Given the description of an element on the screen output the (x, y) to click on. 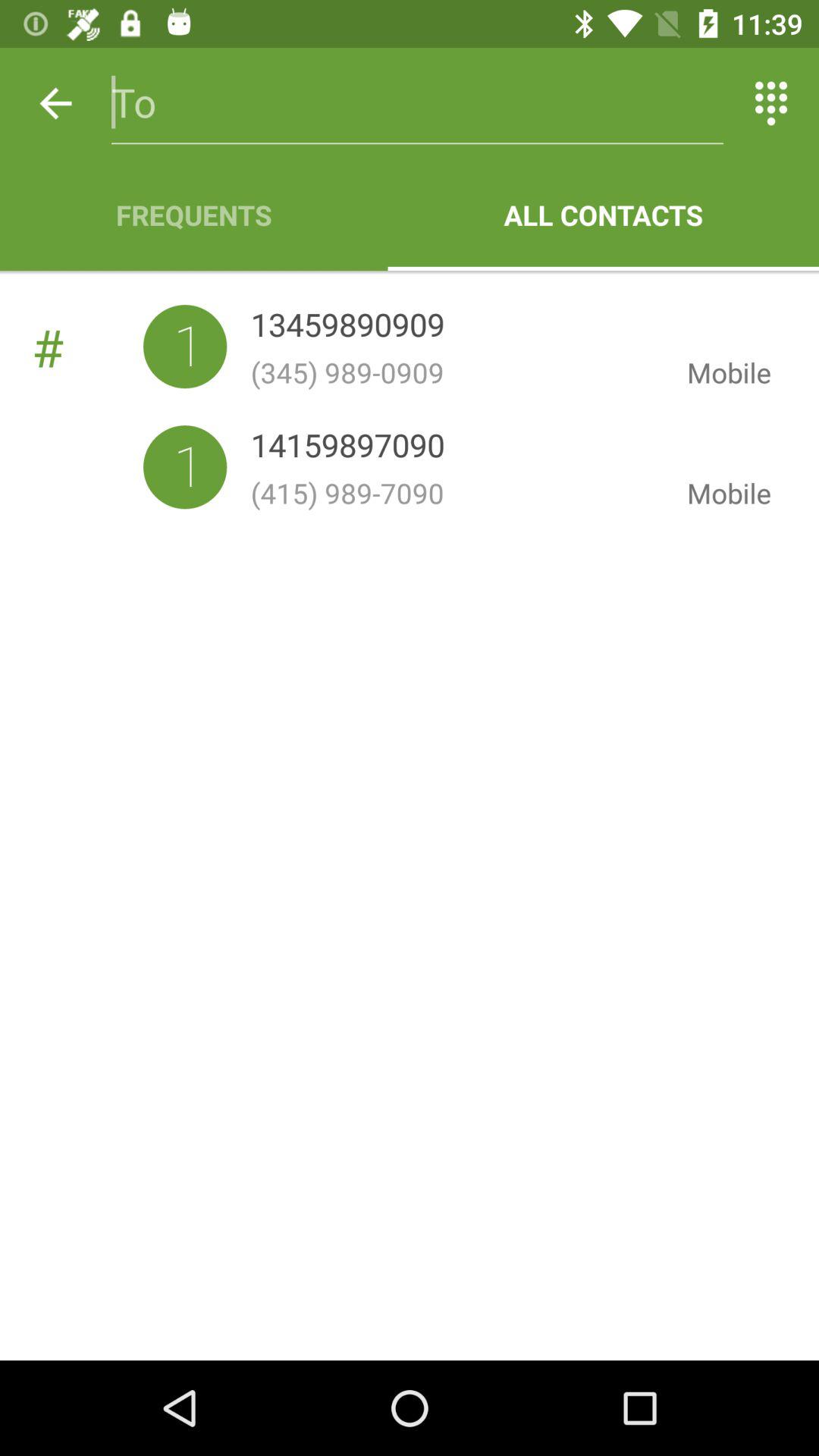
select the app next to all contacts app (193, 214)
